Given the description of an element on the screen output the (x, y) to click on. 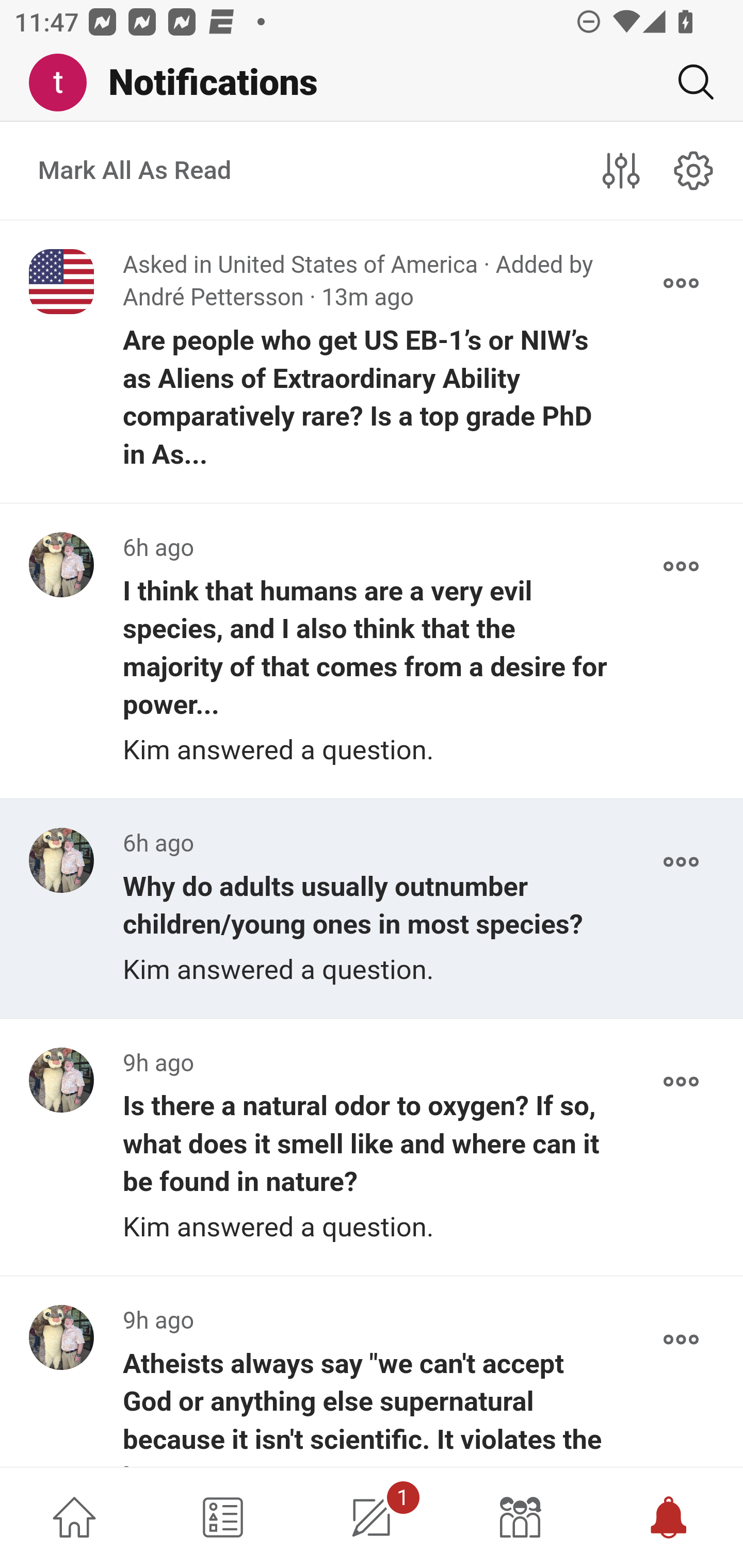
Me (64, 83)
Search (688, 82)
Mark All As Read (135, 171)
notifications# (693, 170)
More (681, 282)
More (681, 566)
More (681, 862)
More (681, 1080)
More (681, 1339)
1 (371, 1517)
